Given the description of an element on the screen output the (x, y) to click on. 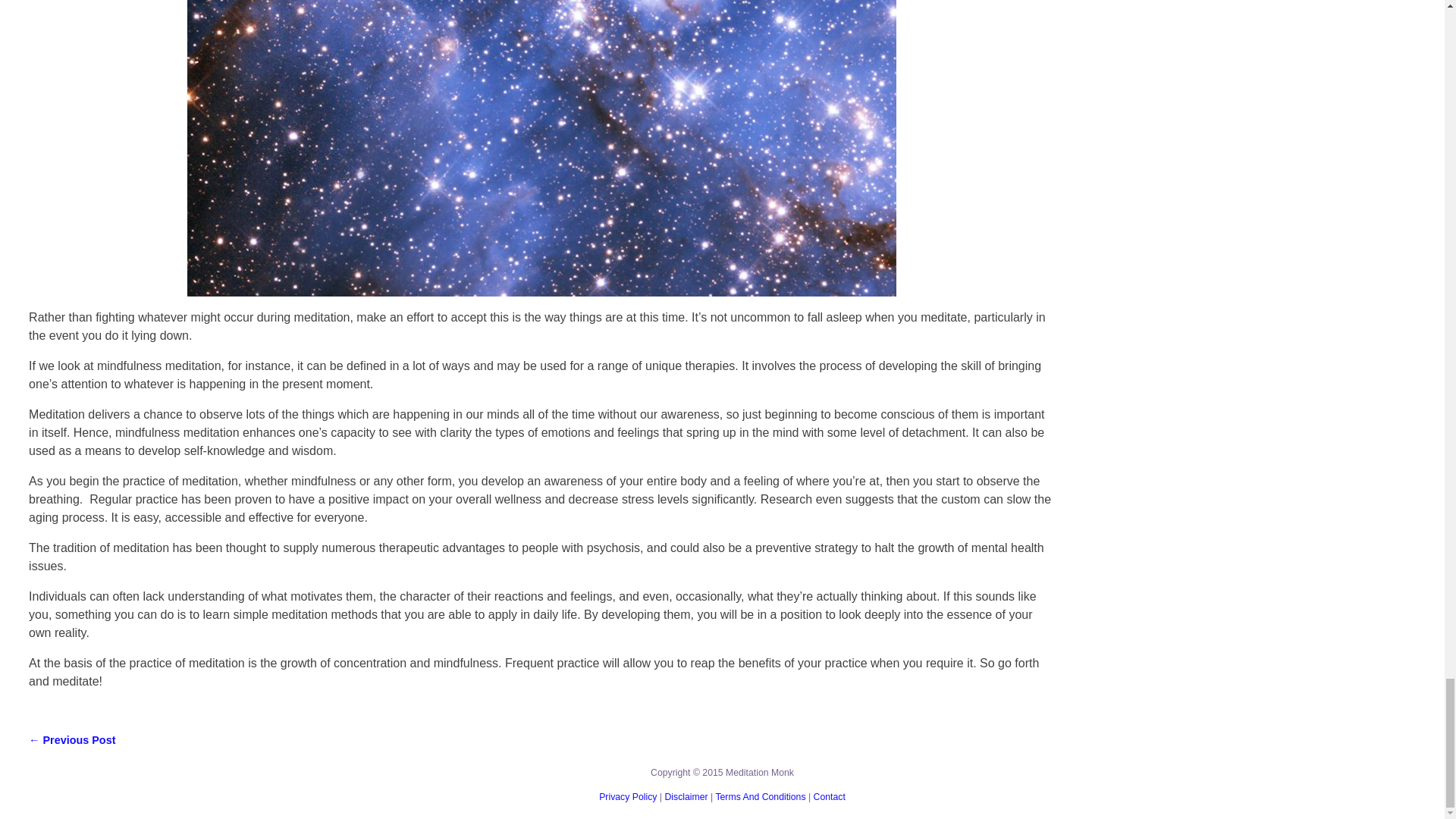
Privacy Policy (627, 796)
meditationmonk.com (685, 796)
Disclaimer (685, 796)
meditationmonk.com (829, 796)
meditationmonk.com (627, 796)
Contact (829, 796)
Terms And Conditions (759, 796)
meditationmonk.com (759, 796)
